Given the description of an element on the screen output the (x, y) to click on. 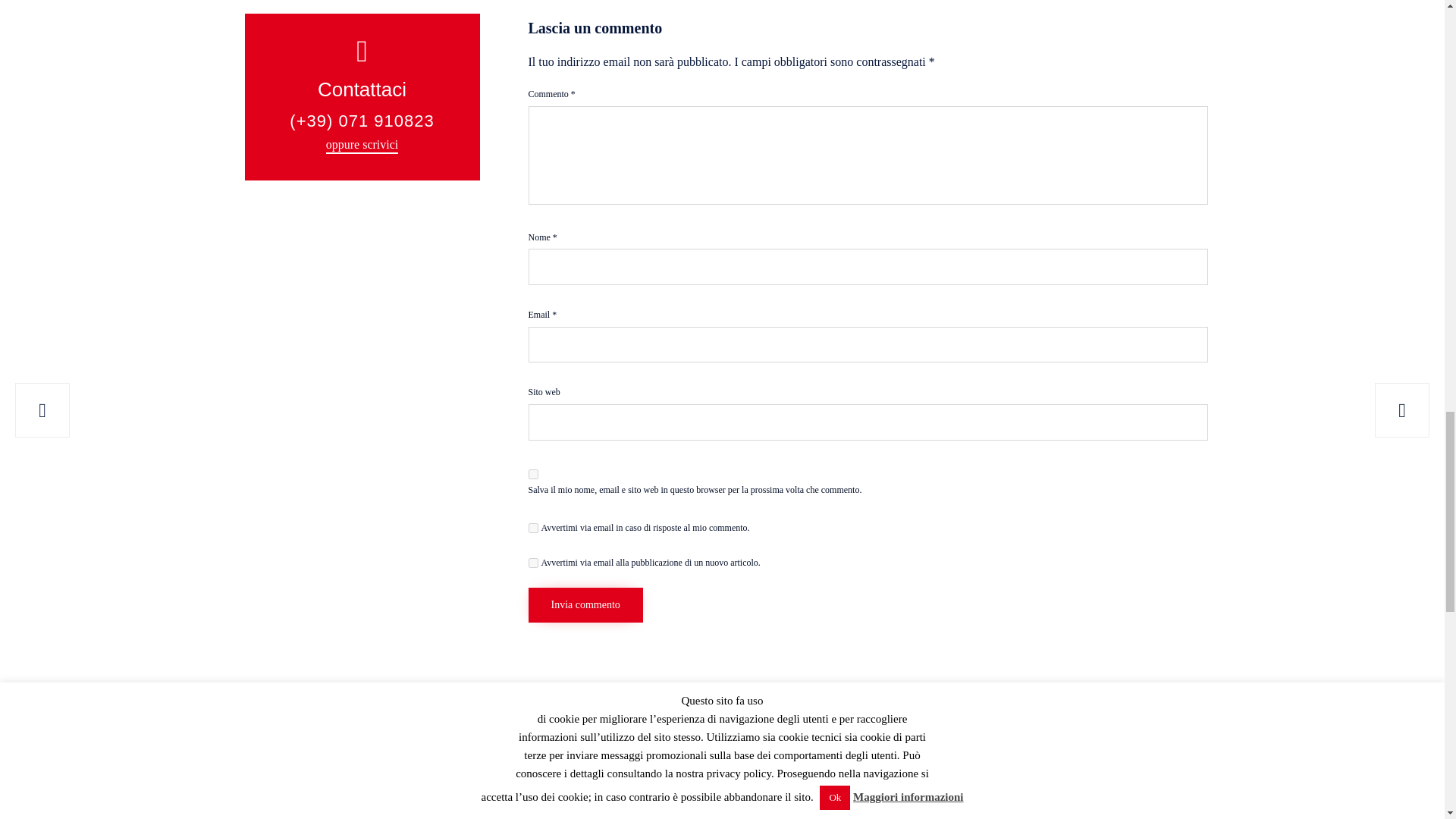
subscribe (532, 528)
Design complexity simplifiedwith CNC machining technology (716, 804)
Invia commento (584, 605)
Invia commento (584, 605)
subscribe (532, 562)
yes (532, 474)
